Given the description of an element on the screen output the (x, y) to click on. 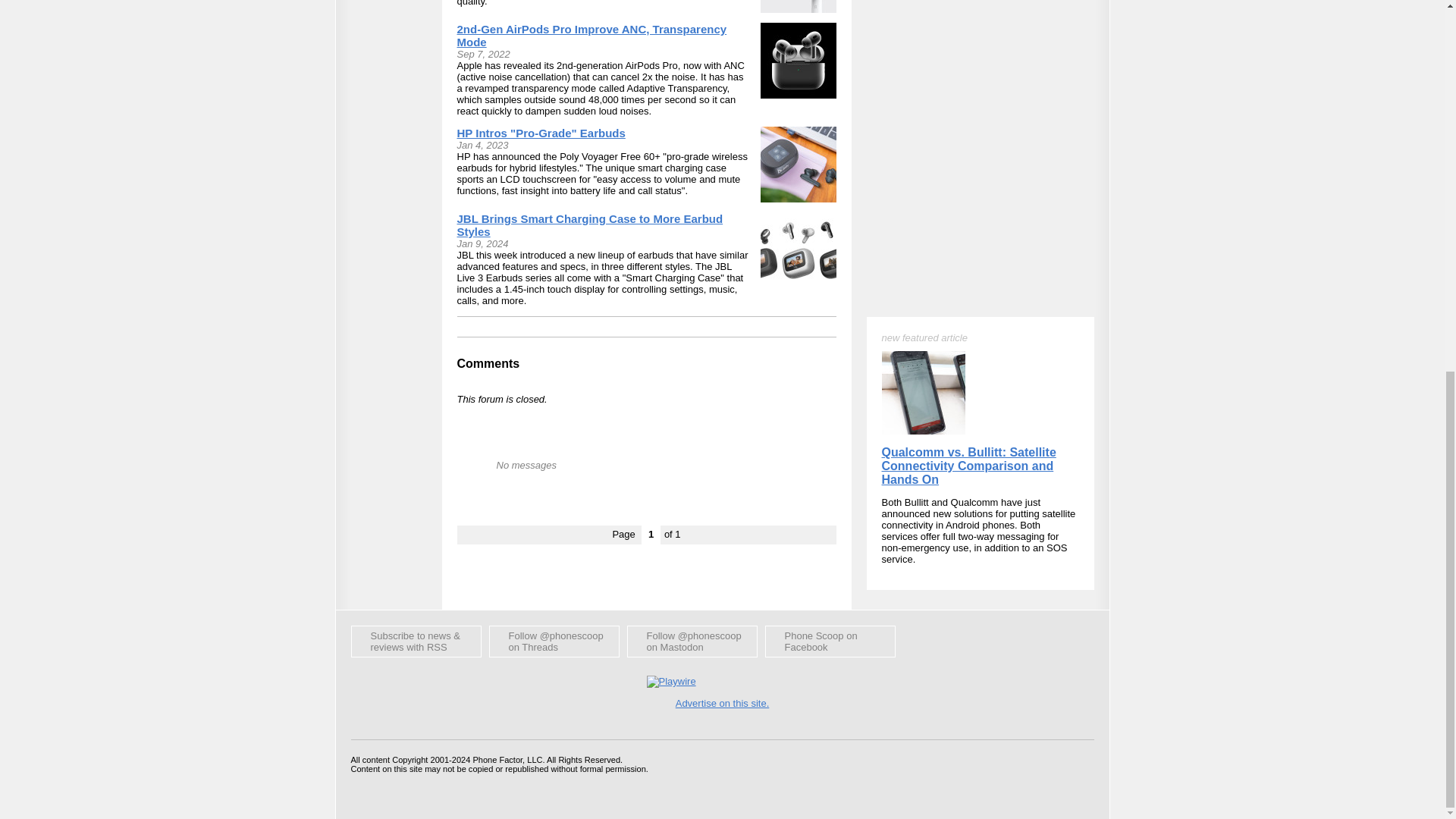
Comments (488, 363)
Phone Scoop - Latest News (415, 641)
Phone Scoop on Facebook (829, 641)
